Given the description of an element on the screen output the (x, y) to click on. 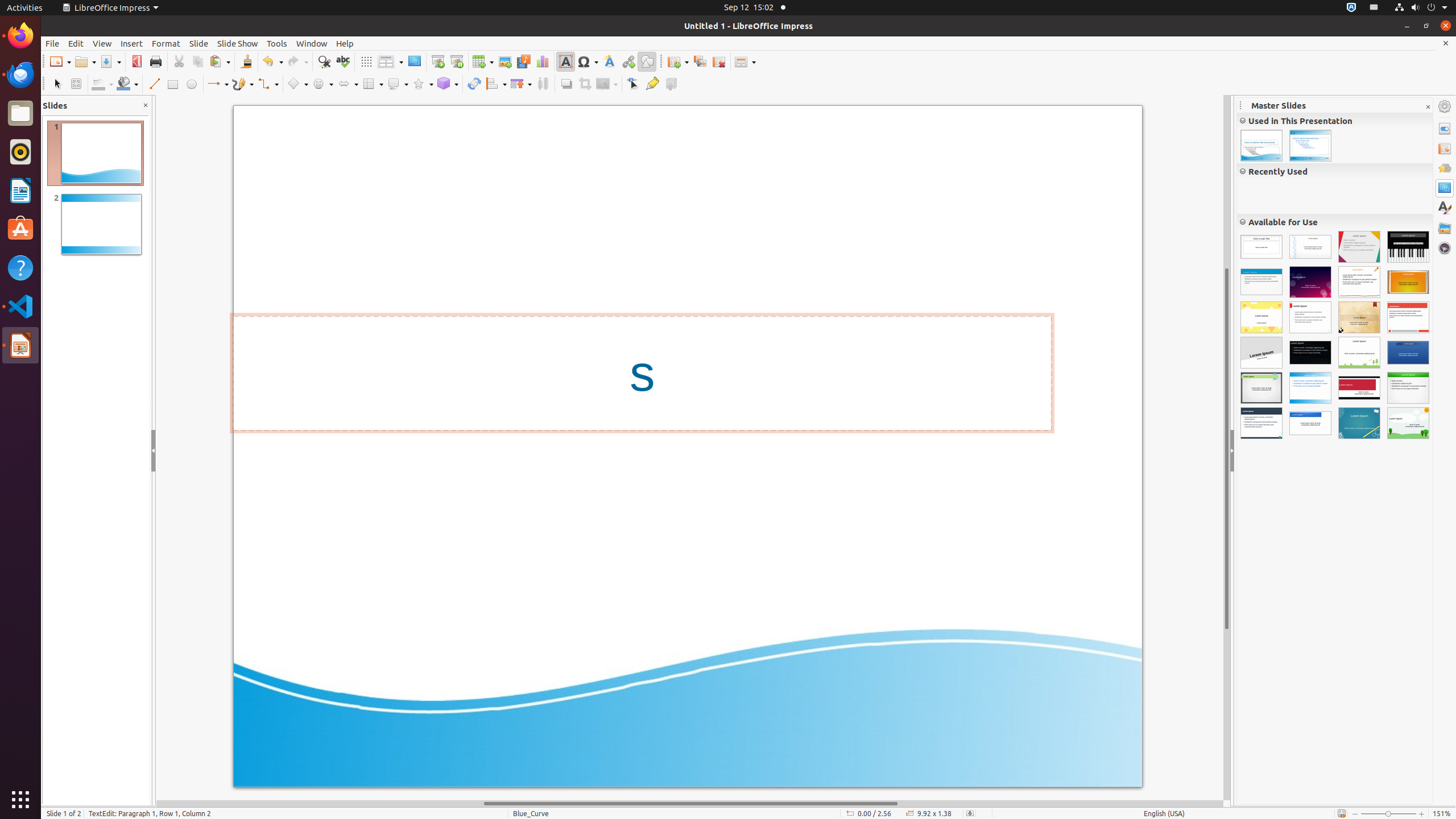
Piano Element type: list-item (1407, 246)
Vertical scroll bar Element type: scroll-bar (1226, 447)
Beehive Element type: list-item (1261, 316)
Blue Curve Element type: list-item (1309, 387)
Window Element type: menu (311, 43)
